Given the description of an element on the screen output the (x, y) to click on. 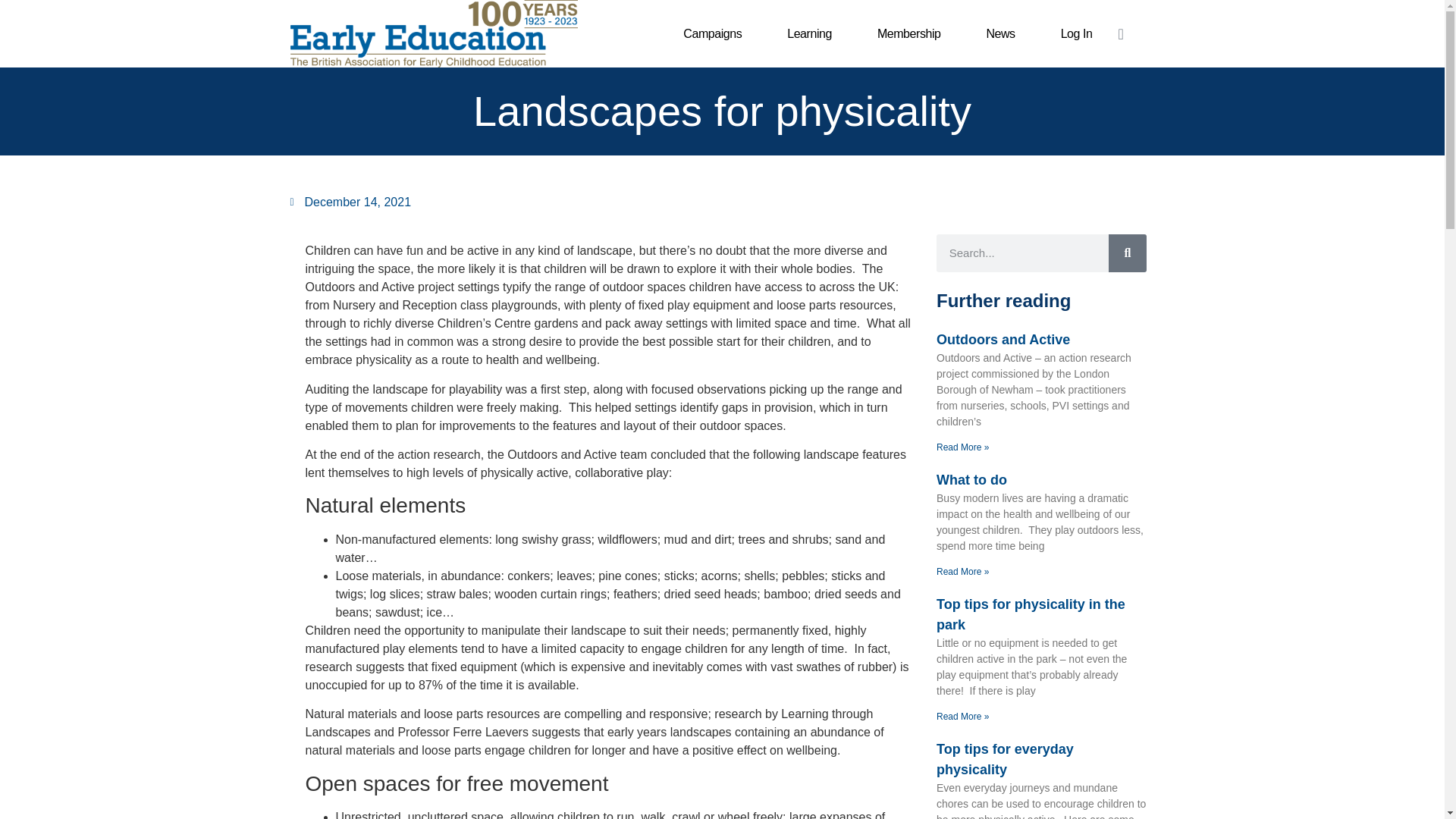
News (1000, 33)
Membership (909, 33)
Learning (809, 33)
Campaigns (712, 33)
Log In (1076, 33)
